Given the description of an element on the screen output the (x, y) to click on. 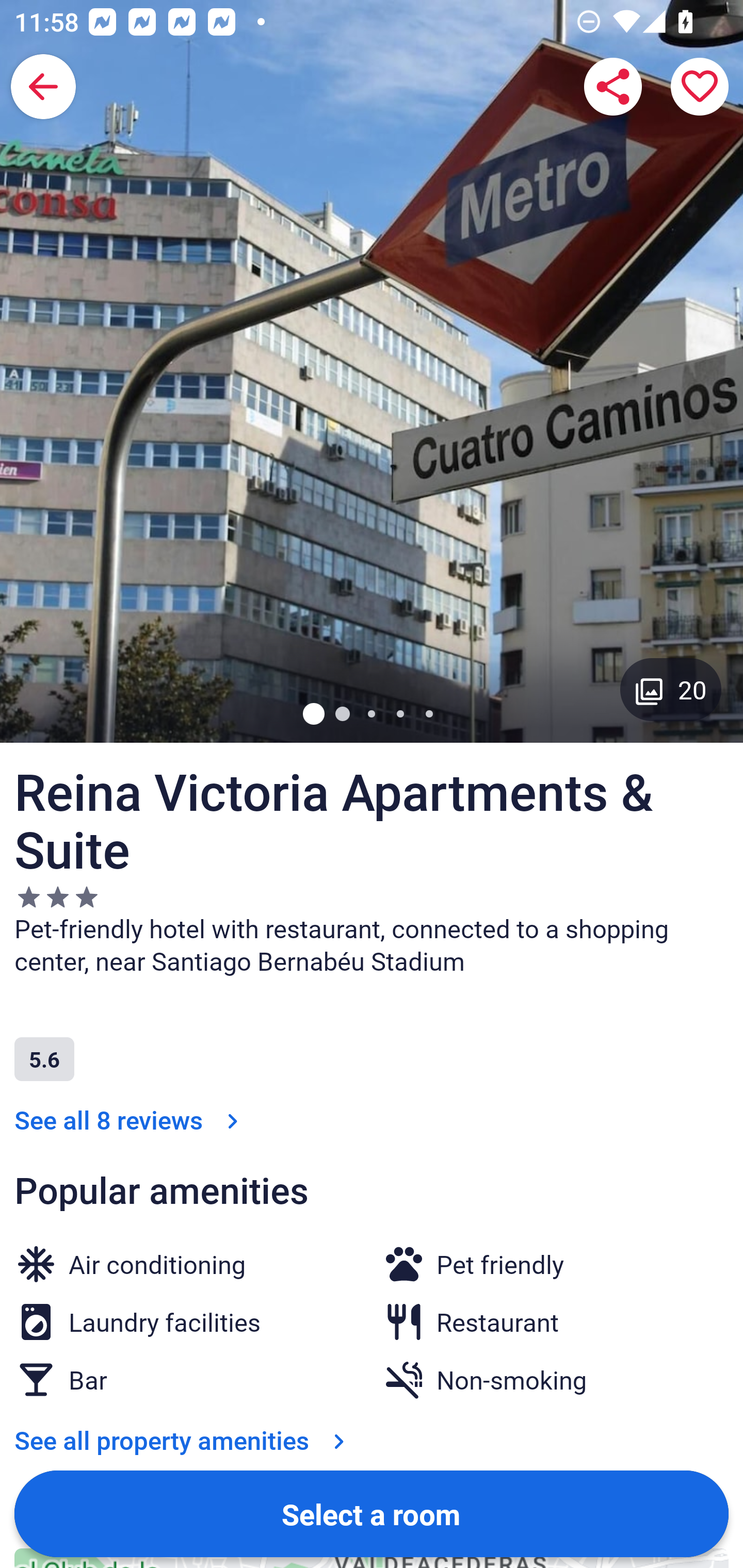
Back (43, 86)
Save property to a trip (699, 86)
Share Reina Victoria Apartments & Suite (612, 87)
Gallery button with 20 images (670, 689)
See all 8 reviews See all 8 reviews Link (130, 1120)
See all property amenities (183, 1440)
Select a room Button Select a room (371, 1513)
